Given the description of an element on the screen output the (x, y) to click on. 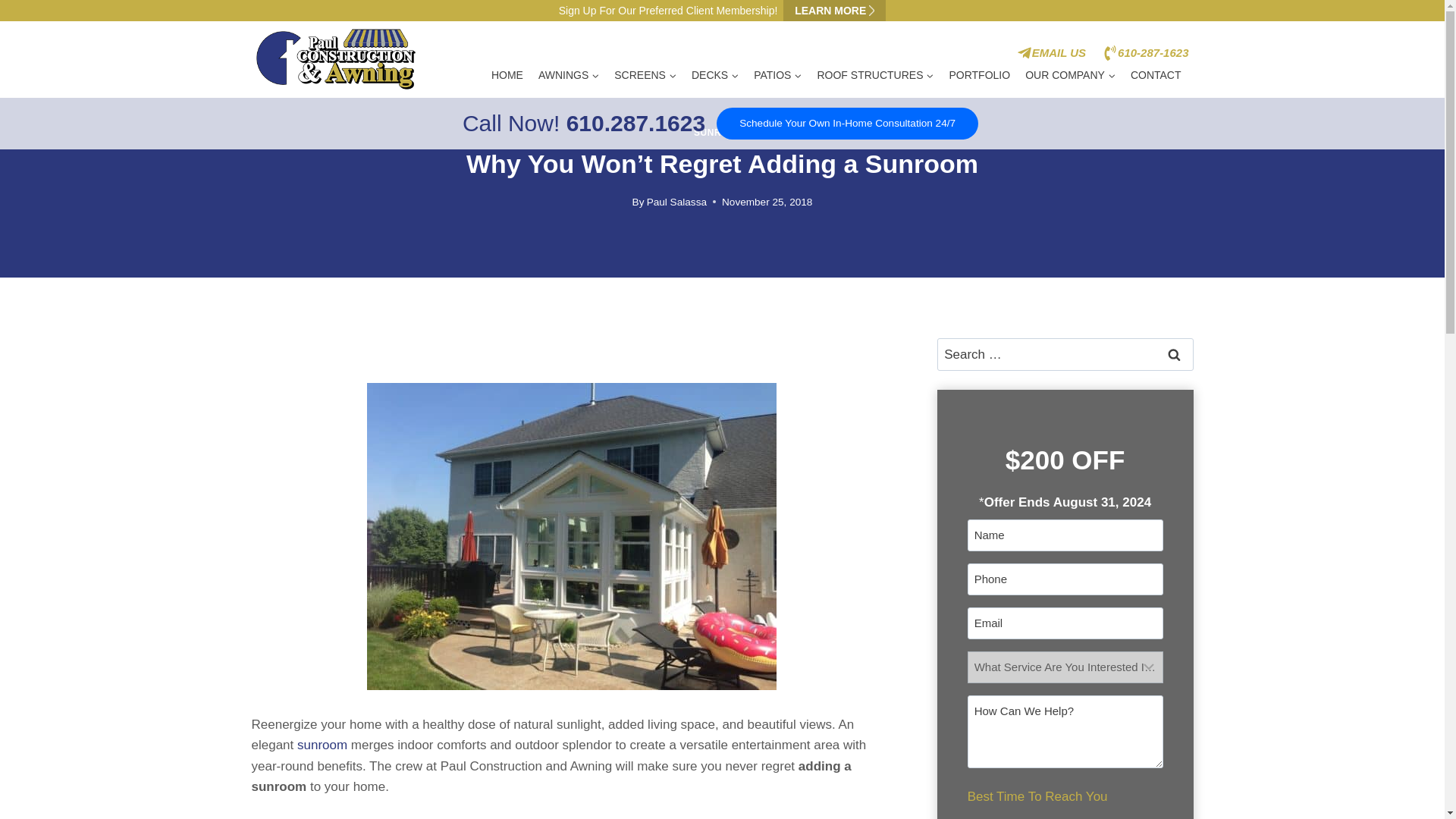
PORTFOLIO (978, 75)
LEARN MORE (834, 10)
PATIOS (777, 75)
Search (1174, 354)
AWNINGS (569, 75)
ROOF STRUCTURES (874, 75)
HOME (507, 75)
OUR COMPANY (1069, 75)
Search (1174, 354)
DECKS (714, 75)
